Given the description of an element on the screen output the (x, y) to click on. 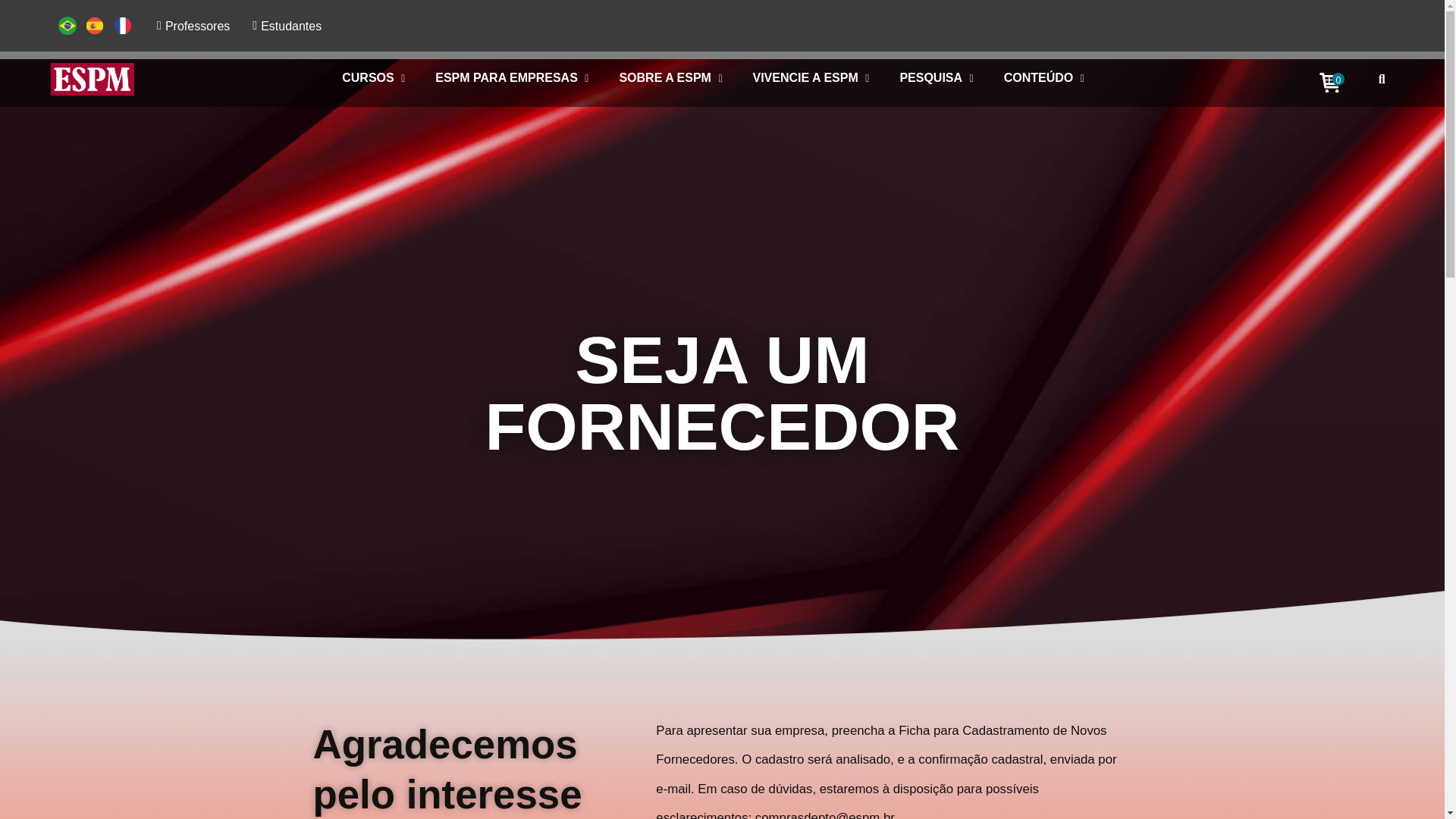
Language switcher : Spanish (98, 24)
0 (1331, 82)
Language switcher : Portuguese (70, 24)
Language switcher : French (126, 24)
